Given the description of an element on the screen output the (x, y) to click on. 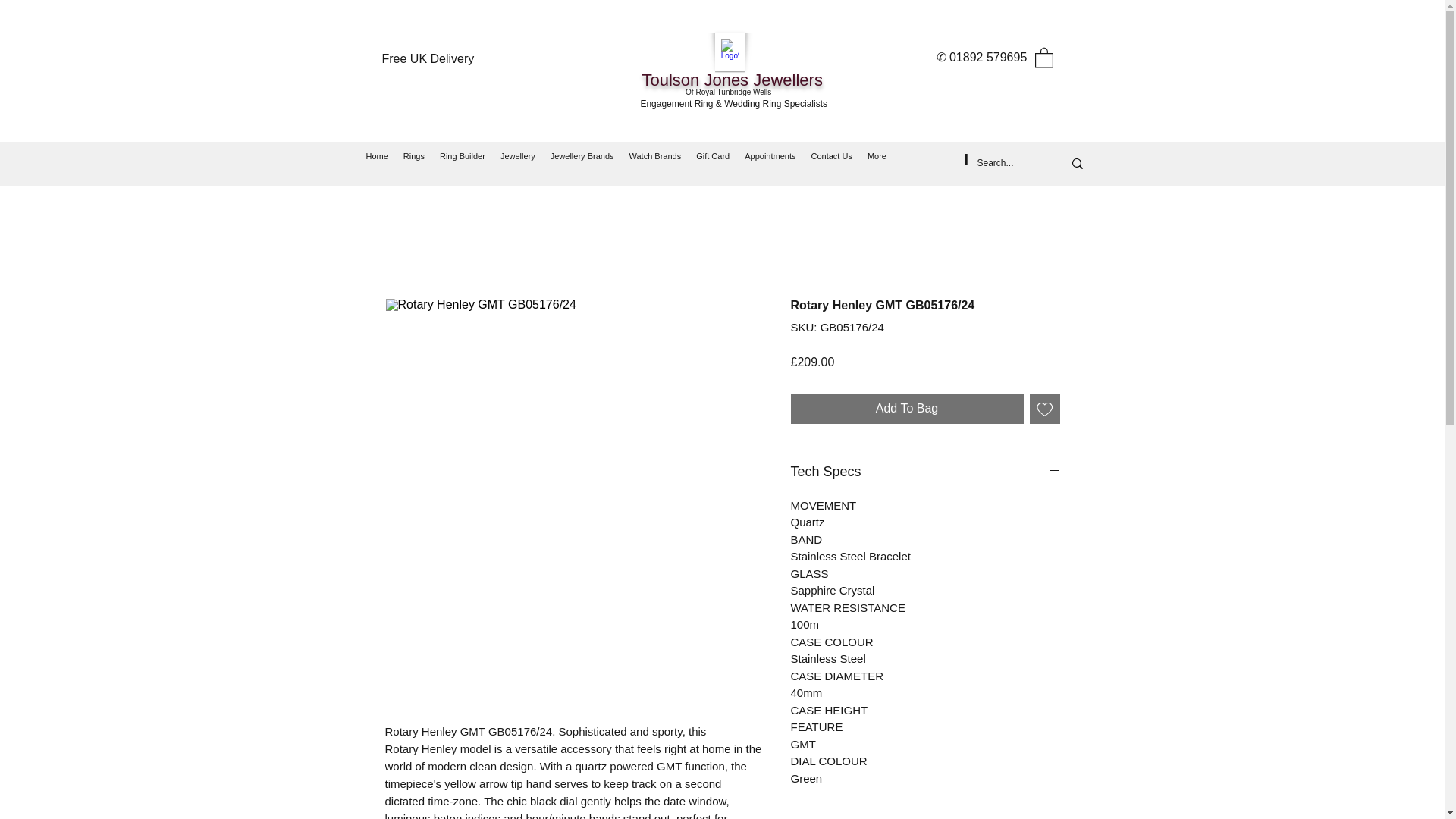
Rings (414, 161)
Ring Builder (462, 161)
Jewellery (518, 161)
Toulson Jones Jewellers (732, 79)
Watch Brands (654, 161)
Jewellery Brands (582, 161)
Home (376, 161)
